Given the description of an element on the screen output the (x, y) to click on. 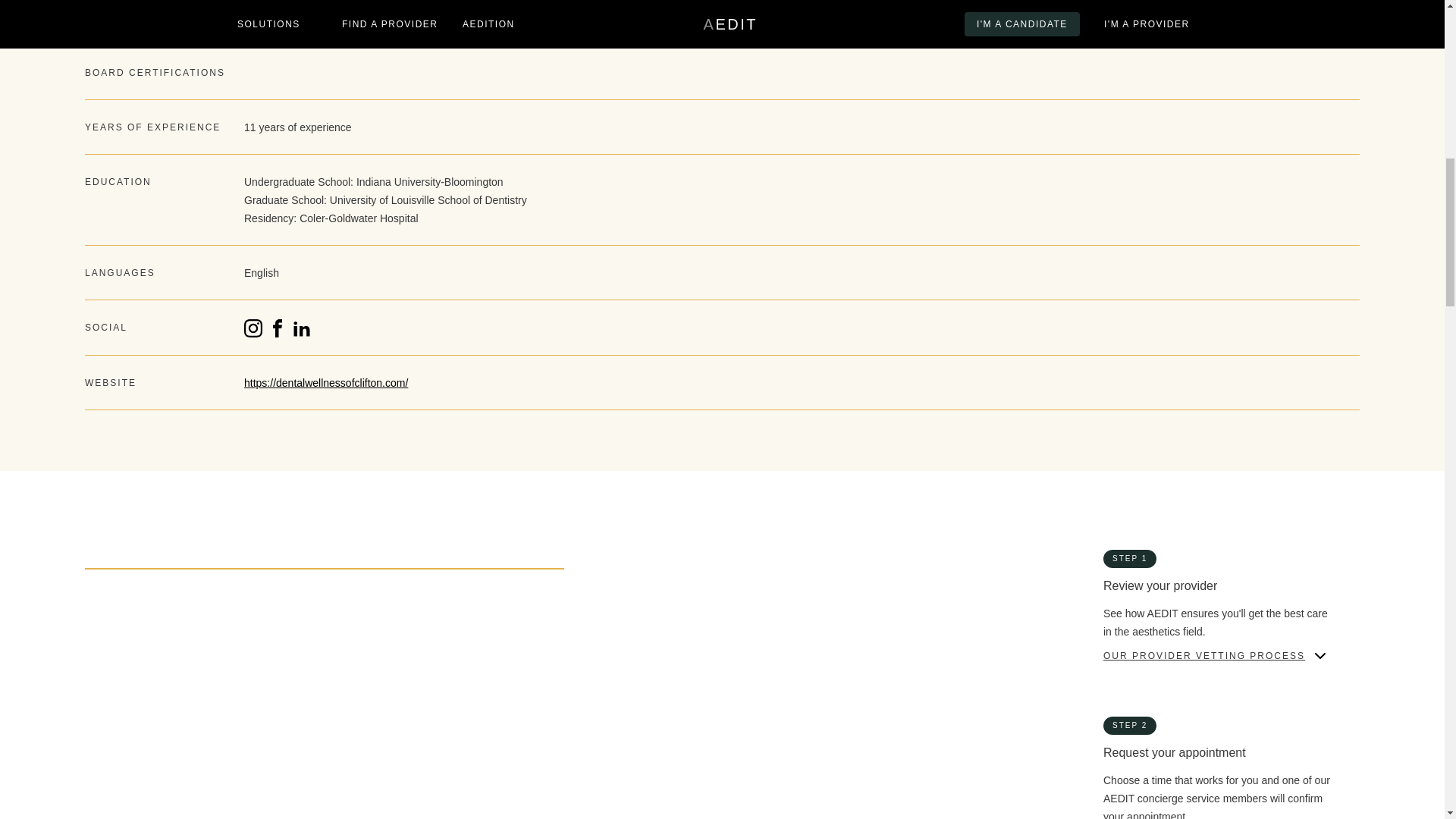
ACNE SCARS (446, 620)
ACNE (100, 620)
CELLULITE (763, 654)
SCARS (103, 720)
BOTOX (103, 787)
BROKEN CAPILLARIES (472, 654)
TATTOO REMOVAL (460, 720)
MARIONETTE LINES (465, 687)
AGE SPOTS (766, 620)
BIRTHMARK REMOVAL (147, 654)
MOLE REMOVAL (778, 687)
